Given the description of an element on the screen output the (x, y) to click on. 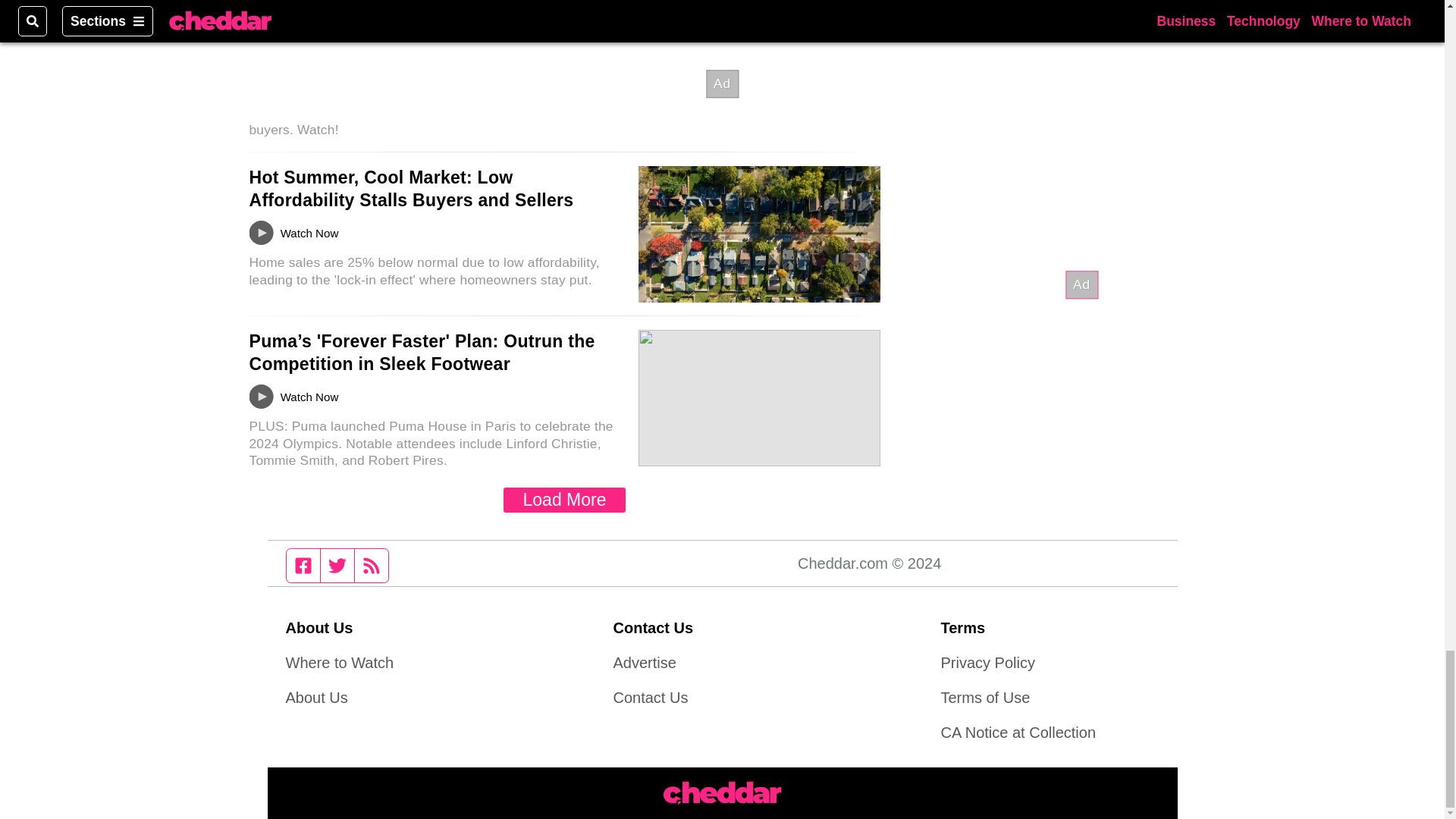
RSS feed (371, 565)
Twitter feed (336, 565)
Load More (564, 499)
Facebook page (303, 565)
